Given the description of an element on the screen output the (x, y) to click on. 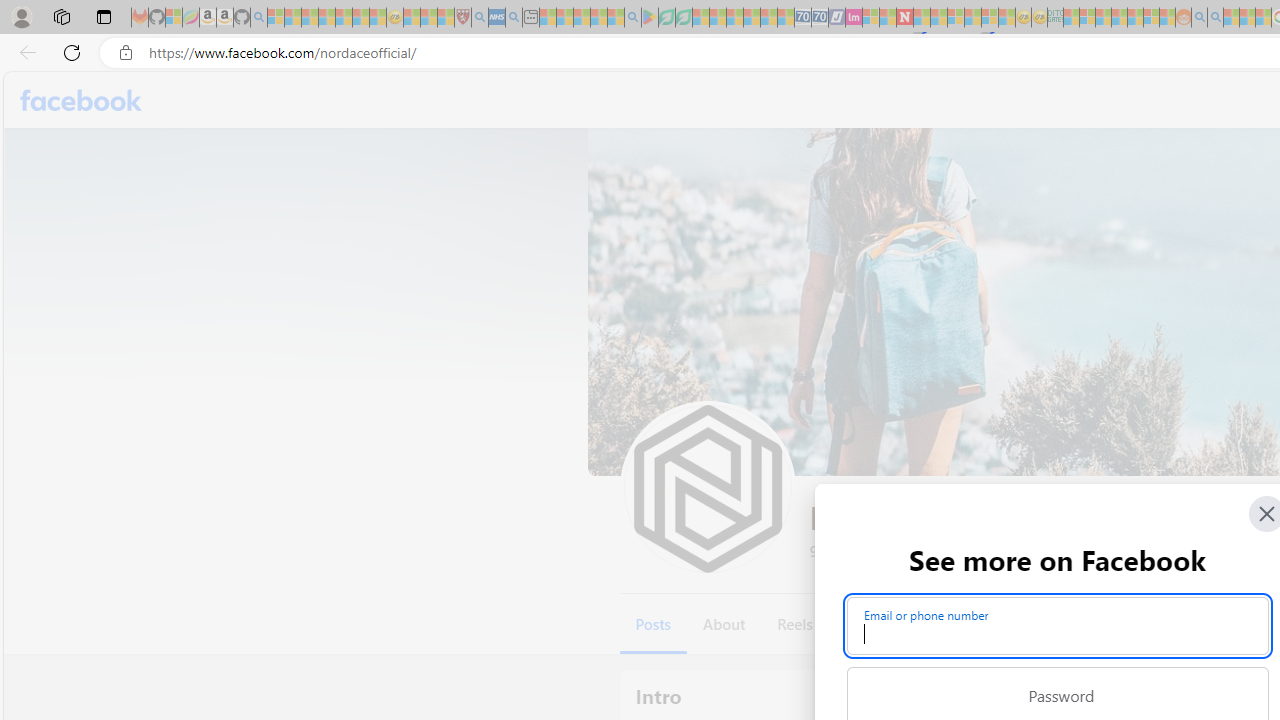
Email or phone number (1057, 625)
